Given the description of an element on the screen output the (x, y) to click on. 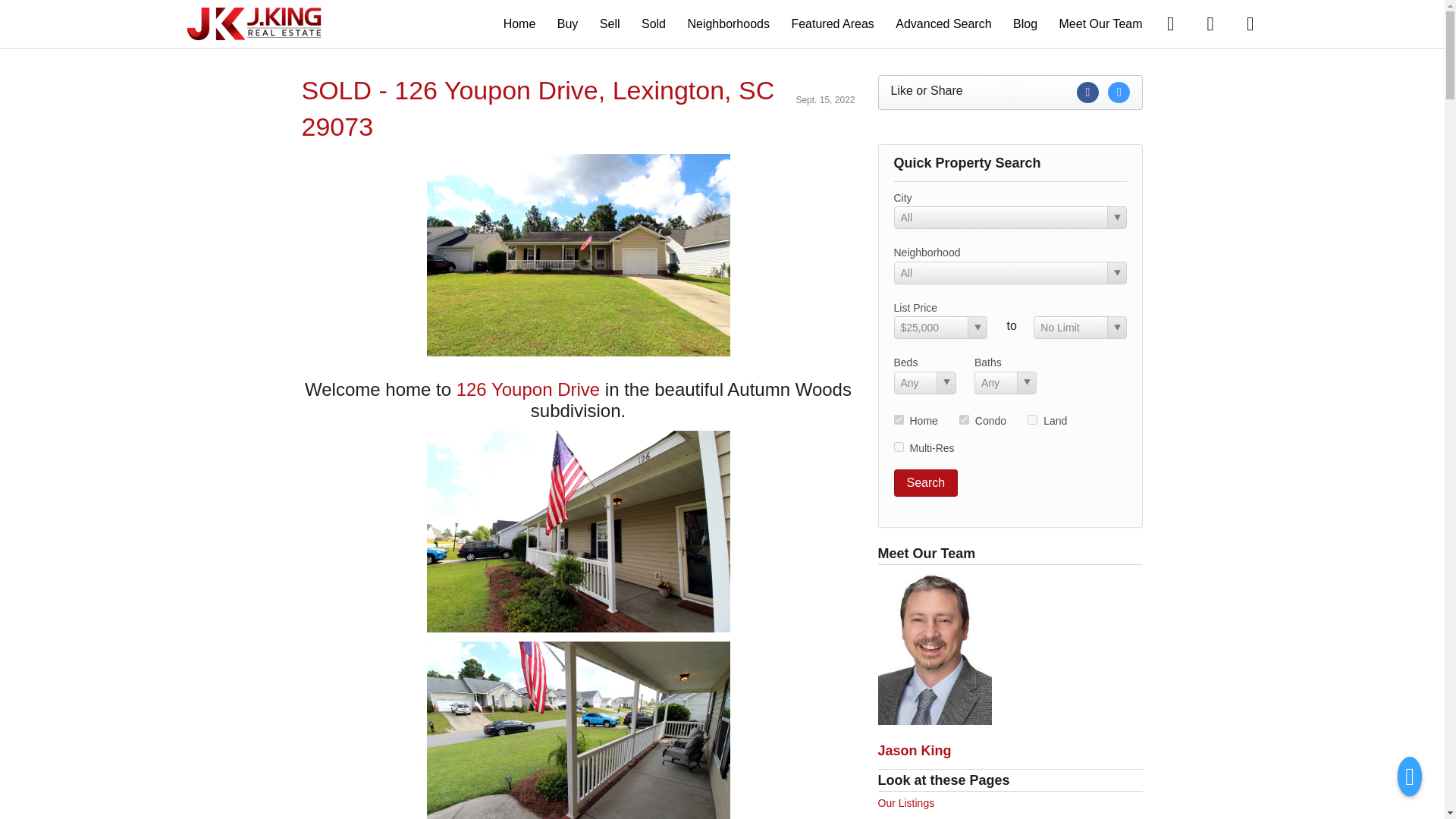
Meet Our Team (1100, 23)
Search (925, 482)
126 Youpon Drive (528, 389)
lnd (1031, 419)
Our Listings (905, 802)
Like or Share (1009, 92)
con (964, 419)
Sold (653, 23)
Home (519, 23)
Neighborhoods (728, 23)
